Given the description of an element on the screen output the (x, y) to click on. 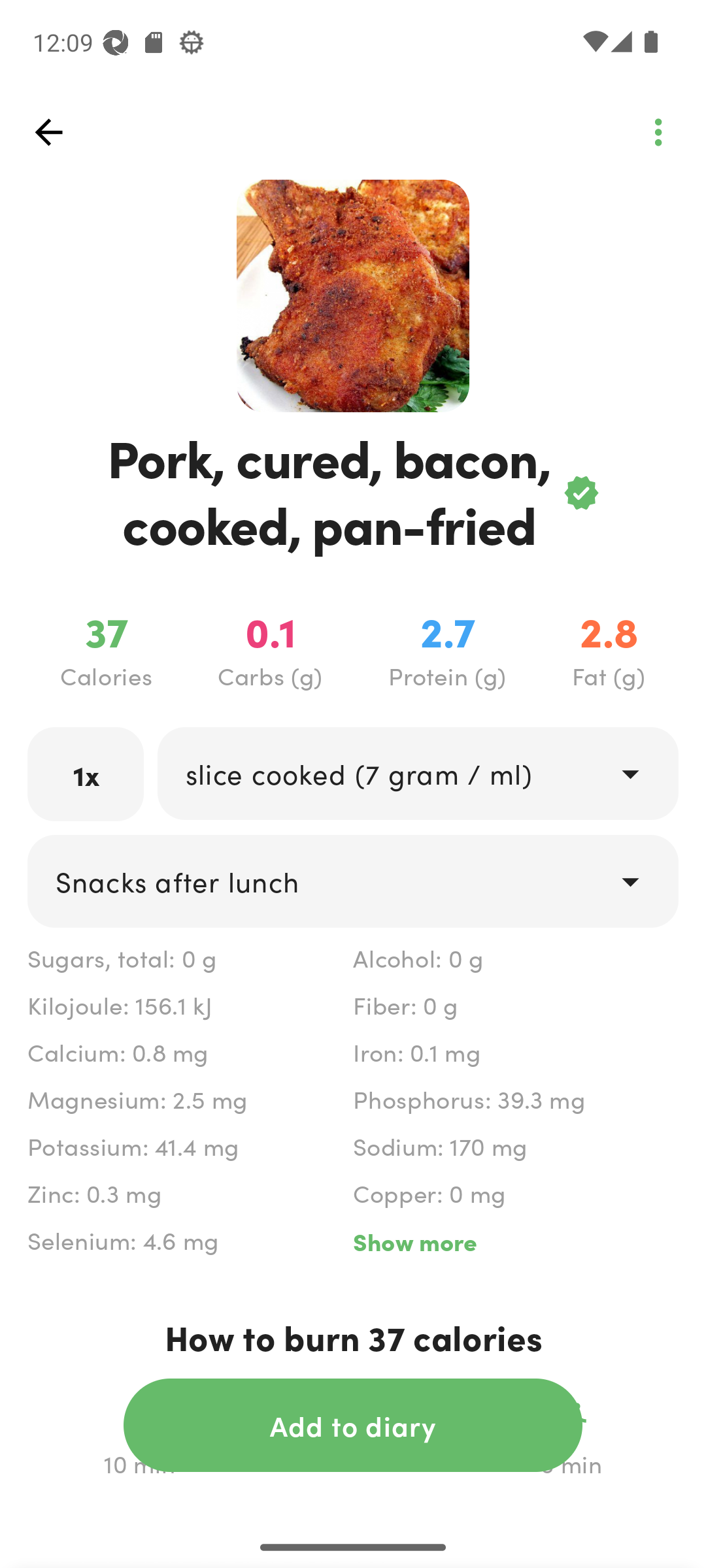
top_left_action (48, 132)
top_left_action (658, 132)
1x labeled_edit_text (85, 774)
drop_down slice cooked (7 gram / ml) (417, 773)
drop_down Snacks after lunch (352, 881)
Show more (515, 1240)
action_button Add to diary (352, 1425)
